Given the description of an element on the screen output the (x, y) to click on. 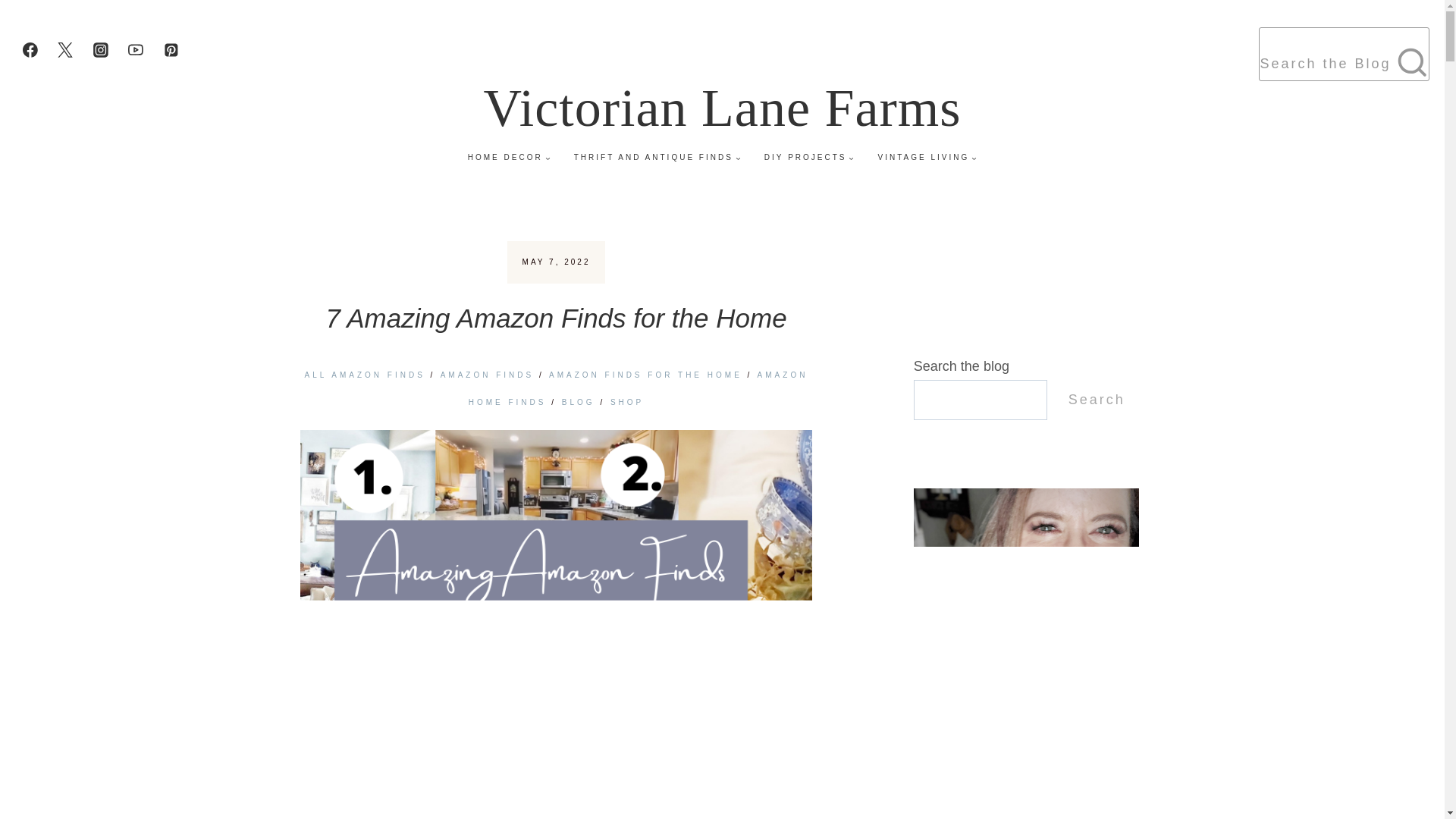
ALL AMAZON FINDS (364, 375)
HOME DECOR (508, 157)
AMAZON HOME FINDS (638, 388)
VINTAGE LIVING (927, 157)
BLOG (578, 402)
AMAZON FINDS FOR THE HOME (645, 375)
THRIFT AND ANTIQUE FINDS (657, 157)
SHOP (626, 402)
Search the Blog (1344, 54)
DIY PROJECTS (809, 157)
Victorian Lane Farms (721, 108)
AMAZON FINDS (487, 375)
